Given the description of an element on the screen output the (x, y) to click on. 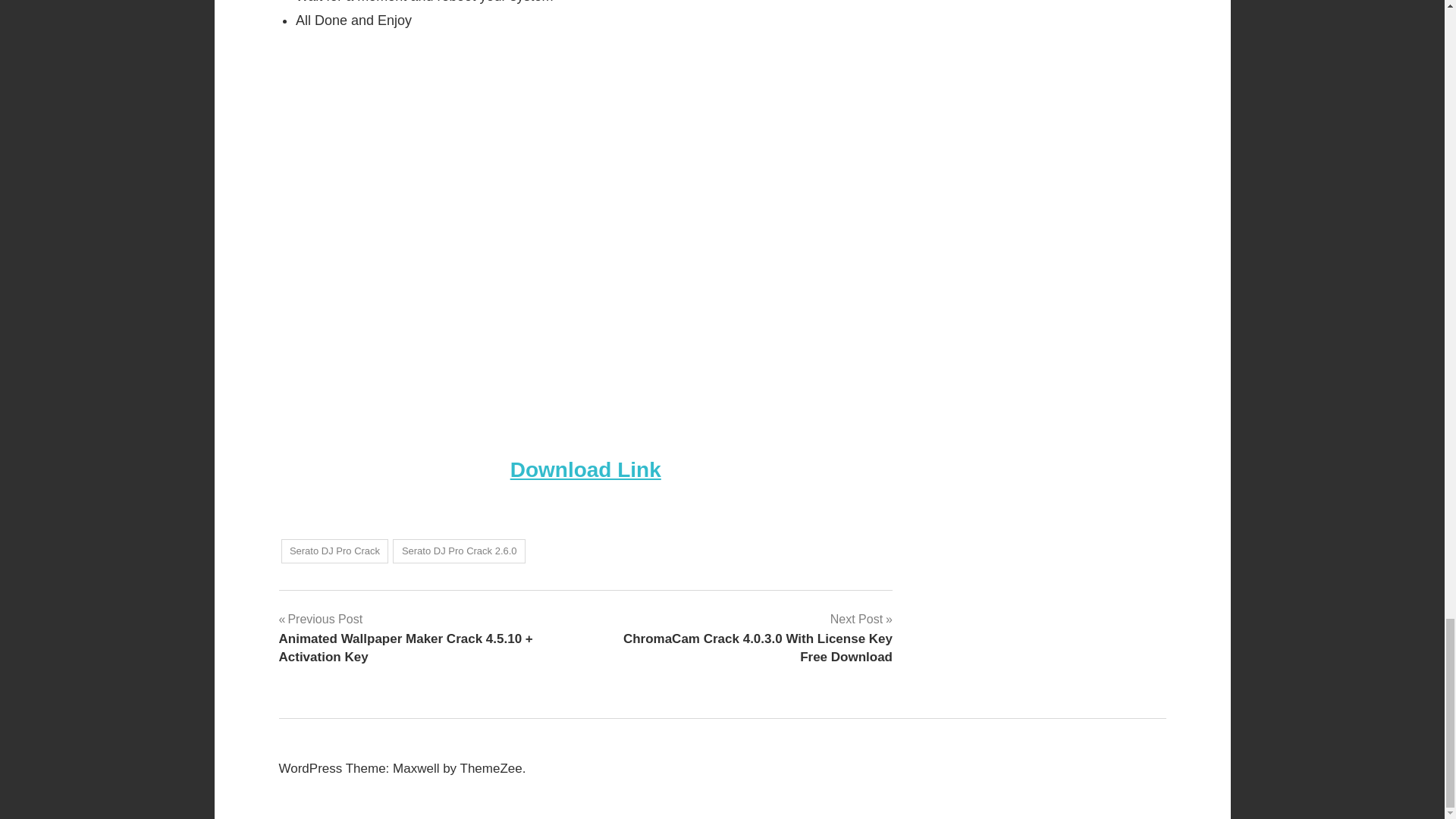
Serato DJ Pro Crack (334, 551)
Serato DJ Pro Crack 2.6.0 (459, 551)
Download Link (586, 469)
